Given the description of an element on the screen output the (x, y) to click on. 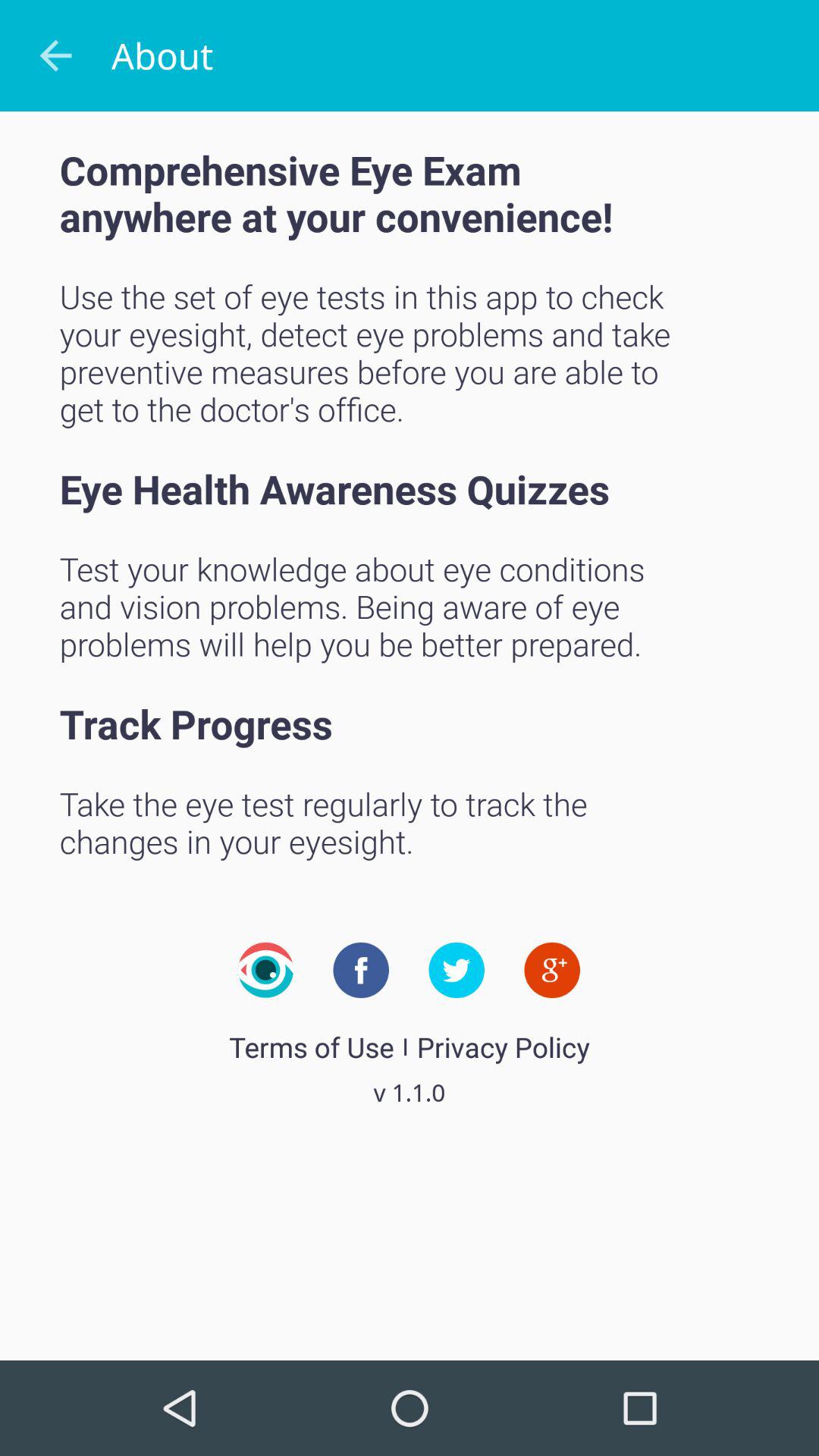
go to our twitter page (456, 970)
